Given the description of an element on the screen output the (x, y) to click on. 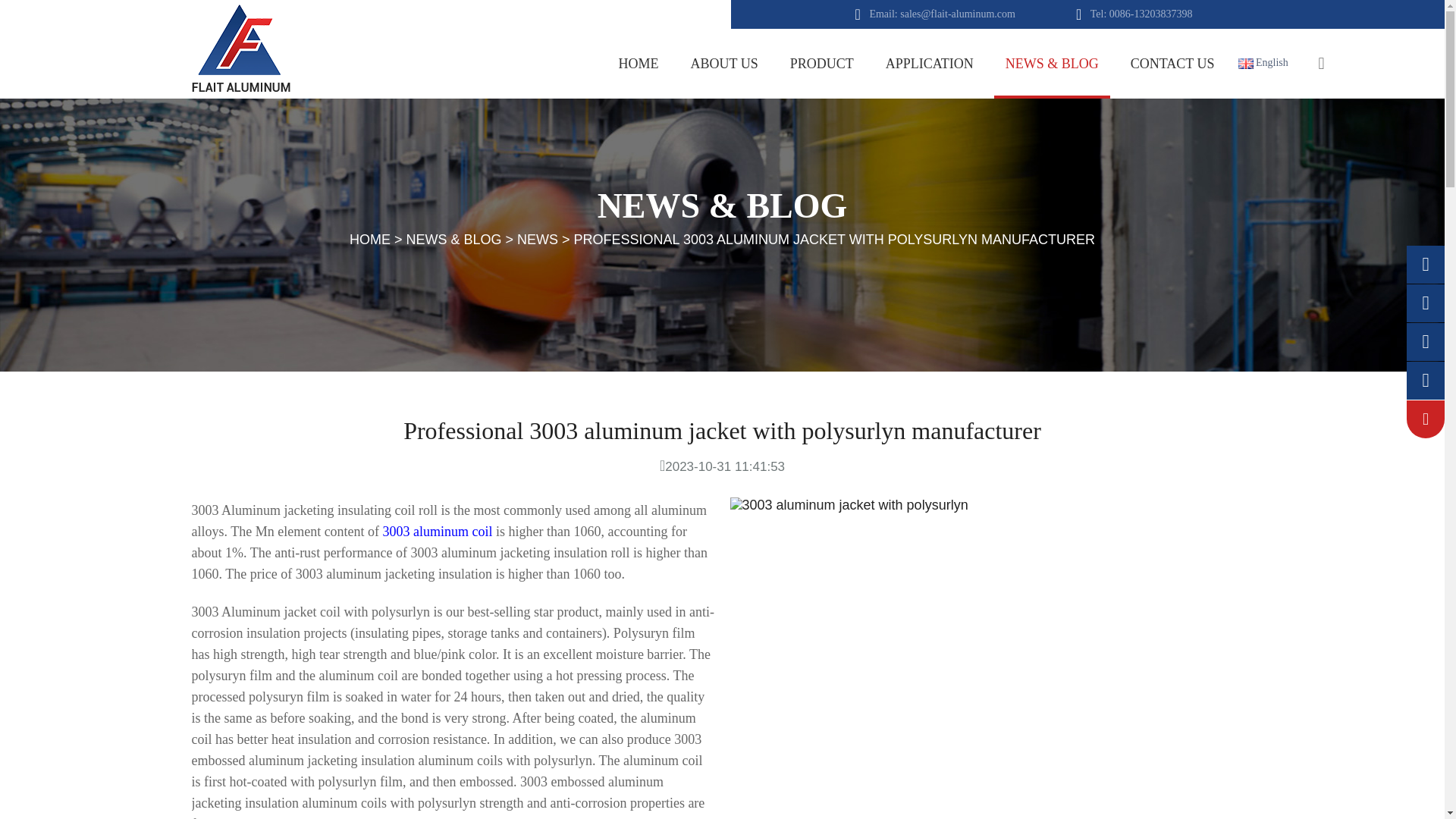
PRODUCT (821, 63)
English (1270, 62)
HOME (638, 63)
0086-13203837398 (1150, 13)
ABOUT US (724, 63)
